Given the description of an element on the screen output the (x, y) to click on. 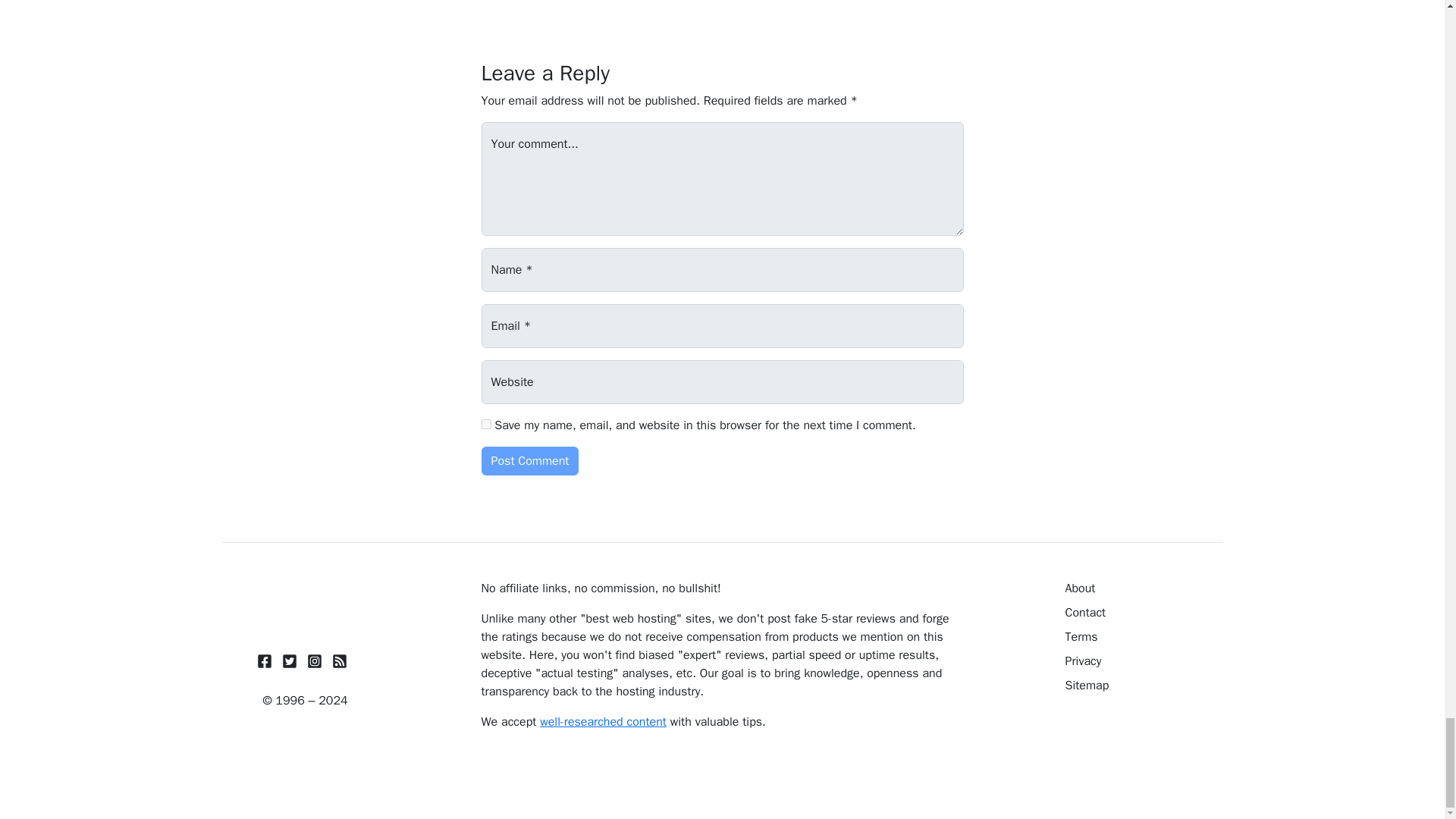
Go to home page (305, 603)
Post Comment (529, 460)
yes (485, 424)
